Given the description of an element on the screen output the (x, y) to click on. 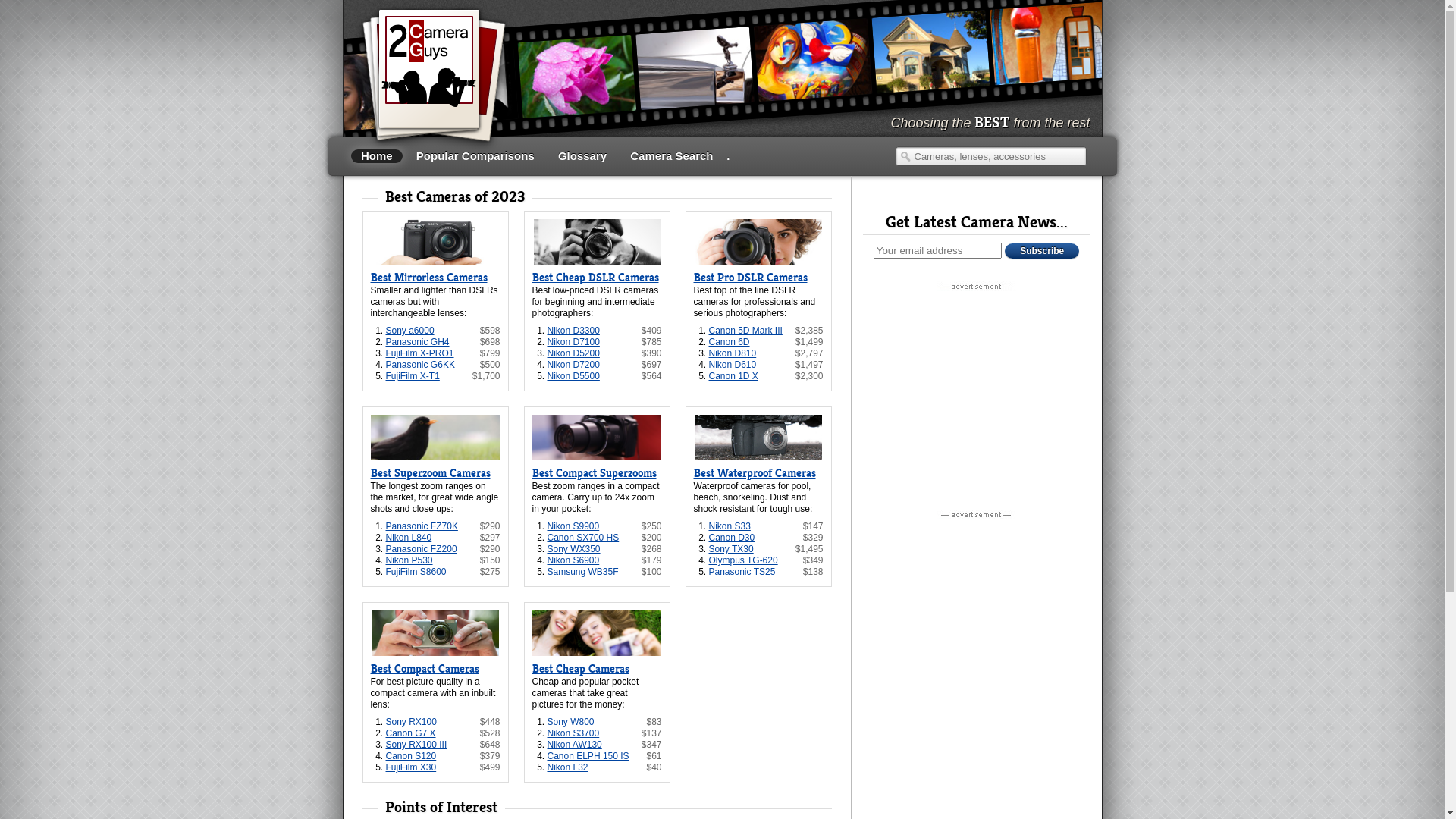
Panasonic FZ200 Element type: text (420, 548)
Glossary Element type: text (581, 156)
Panasonic FZ70K Element type: text (421, 525)
Canon 1D X Element type: text (732, 375)
Best Cheap Cameras Element type: text (580, 668)
Best Compact Cameras Element type: text (424, 668)
Best Cheap Cameras 2023 Element type: hover (597, 632)
FujiFilm S8600 Element type: text (415, 571)
Best Mirrorless Cameras Element type: text (428, 277)
Nikon AW130 Element type: text (574, 744)
Nikon D5200 Element type: text (573, 353)
Subscribe Element type: text (1041, 250)
Best Superzoom Cameras 2023 Element type: hover (434, 437)
Best Premium Compact Cameras 2023 Element type: hover (434, 632)
Nikon D3300 Element type: text (573, 330)
Canon SX700 HS Element type: text (583, 537)
Best Cheap DSLR Cameras Element type: text (595, 277)
Nikon S33 Element type: text (728, 525)
Best Cheap DSLR Cameras 2023 Element type: hover (597, 241)
Best Mirrorless Cameras 2023 Element type: hover (434, 241)
Nikon D7200 Element type: text (573, 364)
Sony W800 Element type: text (570, 721)
Samsung WB35F Element type: text (582, 571)
Nikon S9900 Element type: text (573, 525)
Sony RX100 III Element type: text (415, 744)
Advertisement Element type: hover (976, 389)
Nikon L32 Element type: text (567, 767)
Sony TX30 Element type: text (730, 548)
Panasonic G6KK Element type: text (419, 364)
Best Waterproof Cameras Element type: text (754, 472)
Best Waterproof Cameras 2023 Element type: hover (757, 437)
Panasonic TS25 Element type: text (741, 571)
Canon G7 X Element type: text (410, 733)
Popular Comparisons Element type: text (474, 156)
Nikon S3700 Element type: text (573, 733)
Sony a6000 Element type: text (409, 330)
Nikon D610 Element type: text (732, 364)
Sony WX350 Element type: text (573, 548)
Canon 5D Mark III Element type: text (744, 330)
Best Superzoom Cameras Element type: text (429, 472)
Nikon S6900 Element type: text (573, 560)
FujiFilm X30 Element type: text (410, 767)
Camera Search Element type: text (671, 156)
Nikon P530 Element type: text (408, 560)
Home Element type: text (376, 156)
Canon D30 Element type: text (731, 537)
FujiFilm X-T1 Element type: text (412, 375)
Sony RX100 Element type: text (410, 721)
Nikon L840 Element type: text (408, 537)
FujiFilm X-PRO1 Element type: text (419, 353)
Advertisement Element type: hover (976, 617)
Search Element type: text (905, 156)
Panasonic GH4 Element type: text (416, 341)
Canon S120 Element type: text (410, 755)
Best Pro DSLR Cameras Element type: text (749, 277)
Best Compact Superzooms Element type: text (594, 472)
Best Compact Superzoom Cameras 2023 Element type: hover (597, 437)
Best Pro DSLR Cameras 2023 Element type: hover (757, 241)
Olympus TG-620 Element type: text (742, 560)
Nikon D5500 Element type: text (573, 375)
Nikon D7100 Element type: text (573, 341)
Nikon D810 Element type: text (732, 353)
Canon ELPH 150 IS Element type: text (588, 755)
Canon 6D Element type: text (728, 341)
